Given the description of an element on the screen output the (x, y) to click on. 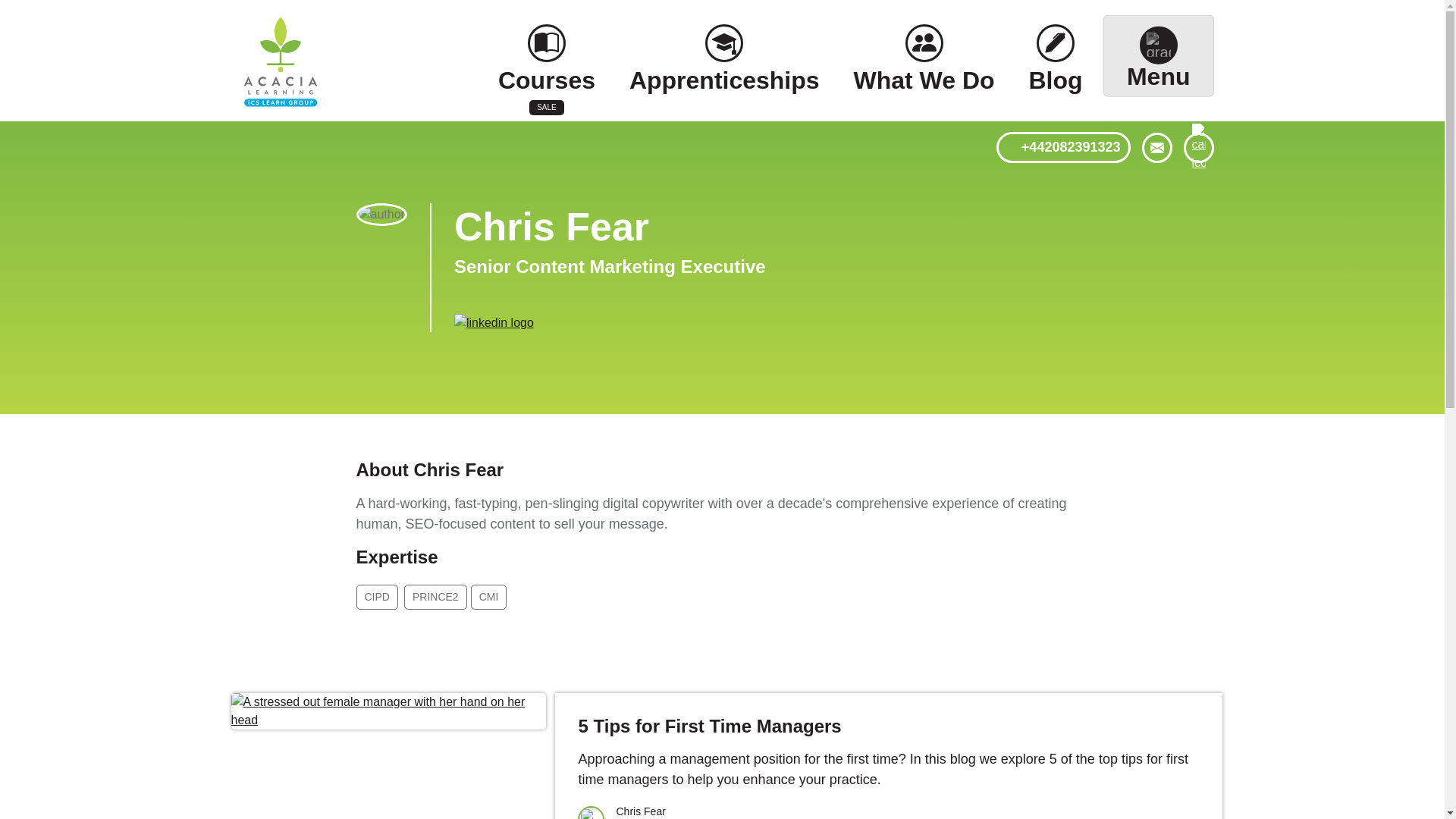
Apprenticeships (723, 68)
Courses (545, 68)
What We Do (923, 68)
